Given the description of an element on the screen output the (x, y) to click on. 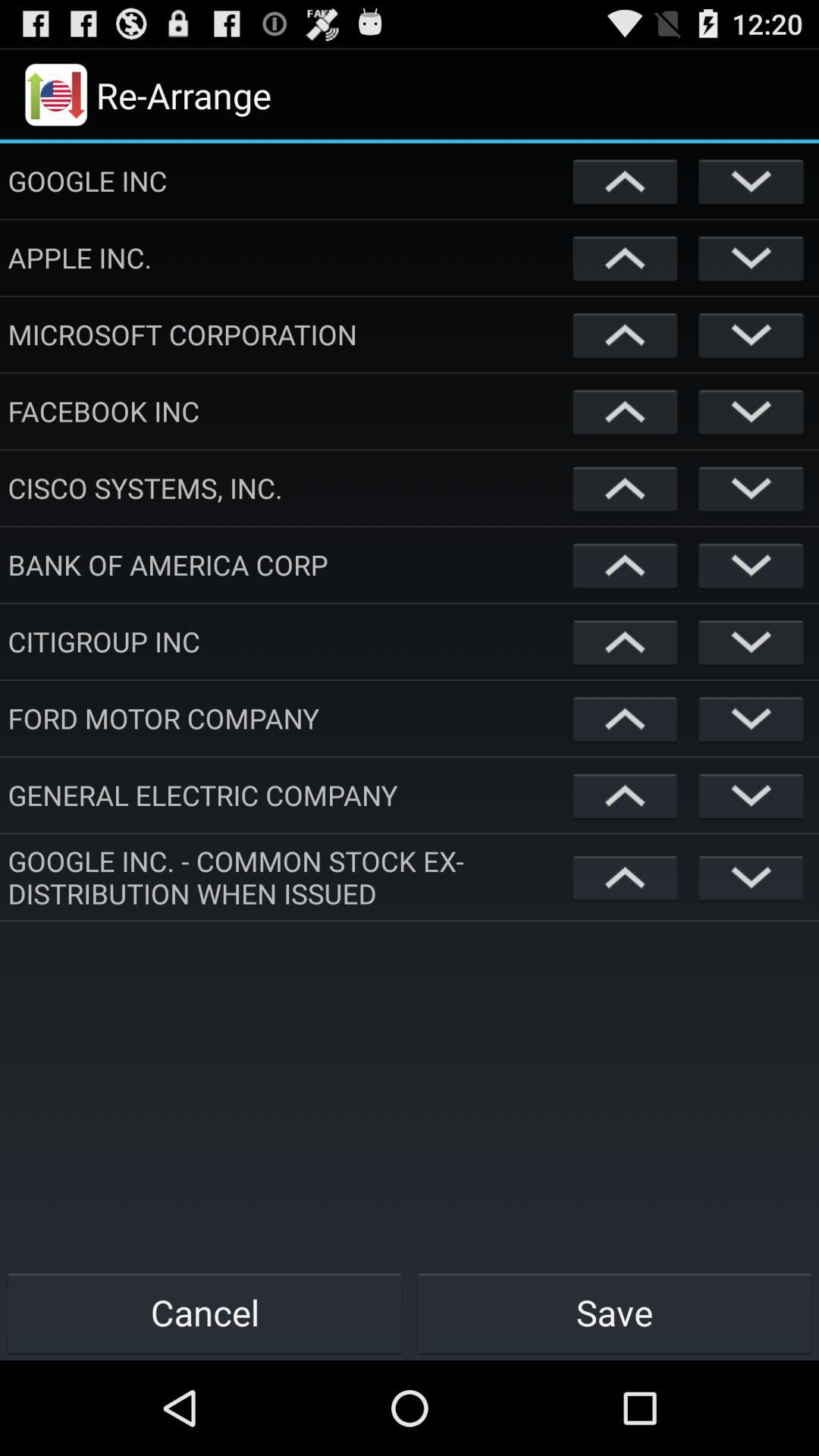
go to previous (624, 641)
